Given the description of an element on the screen output the (x, y) to click on. 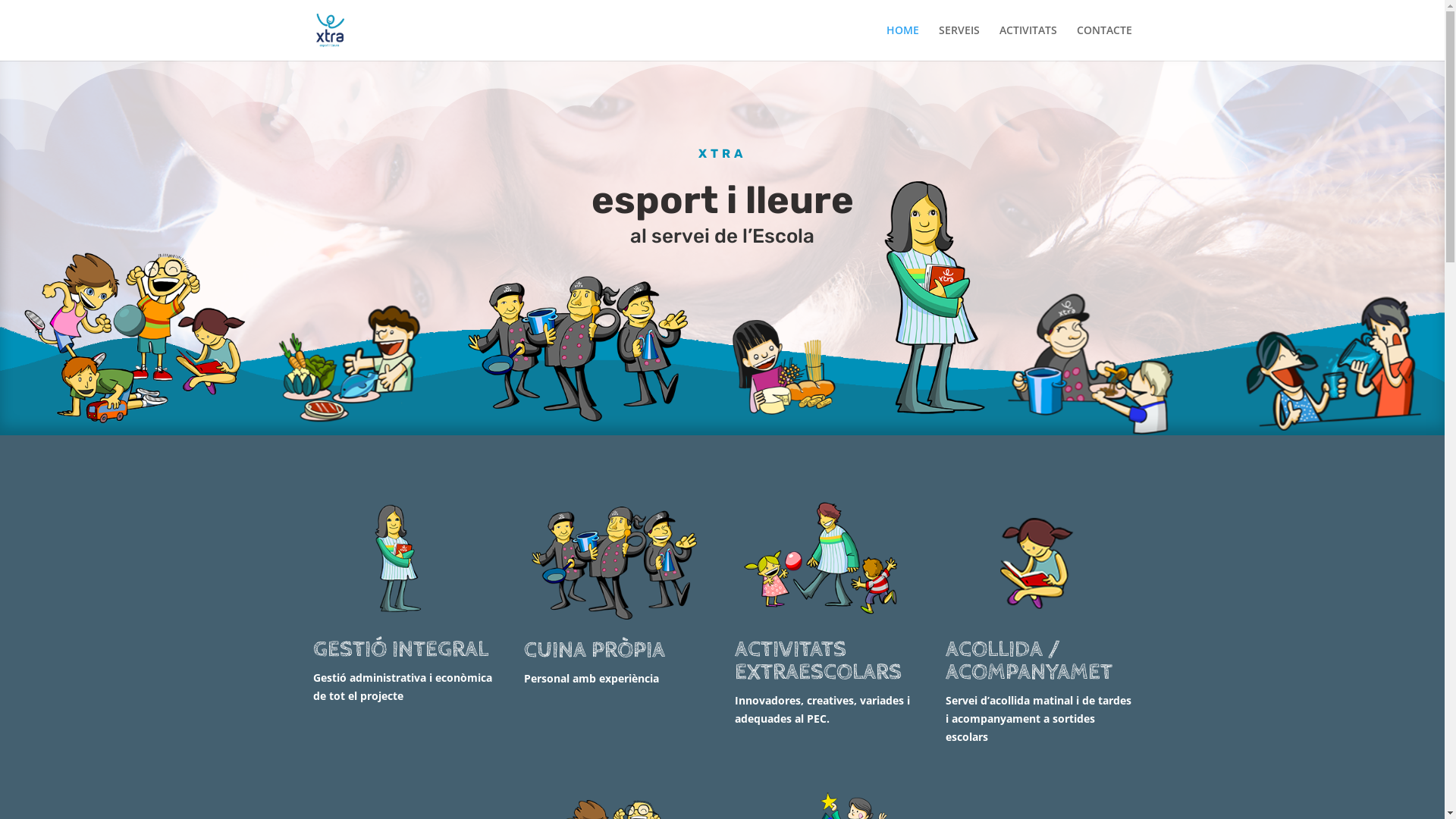
GESTIO Element type: hover (405, 561)
HOME Element type: text (901, 42)
ACTIVITATS Element type: text (1028, 42)
SERVEIS Element type: text (958, 42)
CUINA Element type: hover (616, 561)
CONTACTE Element type: text (1104, 42)
EXTRAESCOLAR Element type: hover (827, 561)
ACOLLIDA Element type: hover (1038, 561)
